Given the description of an element on the screen output the (x, y) to click on. 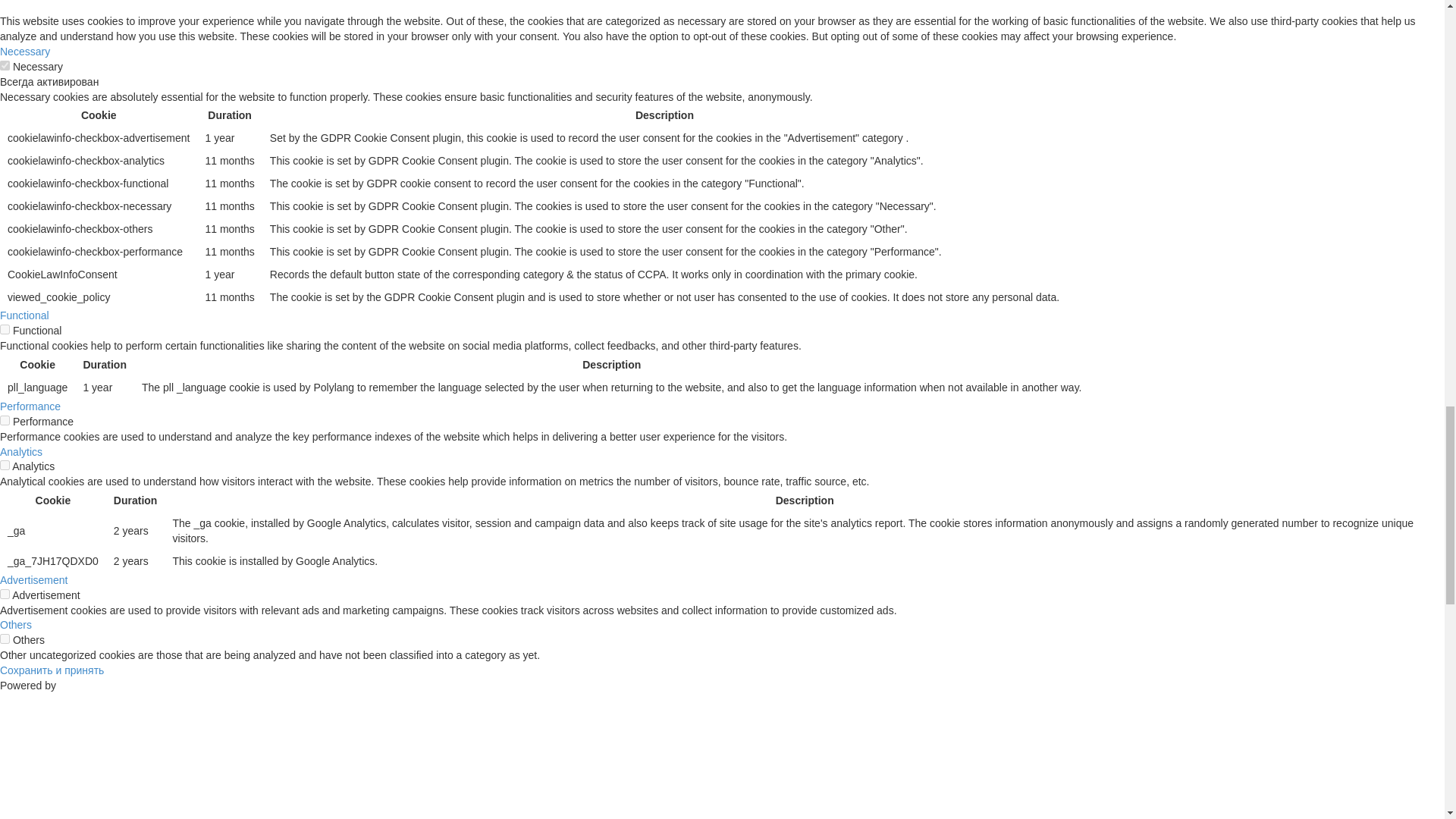
on (5, 65)
on (5, 465)
on (5, 329)
on (5, 638)
on (5, 420)
on (5, 593)
